Given the description of an element on the screen output the (x, y) to click on. 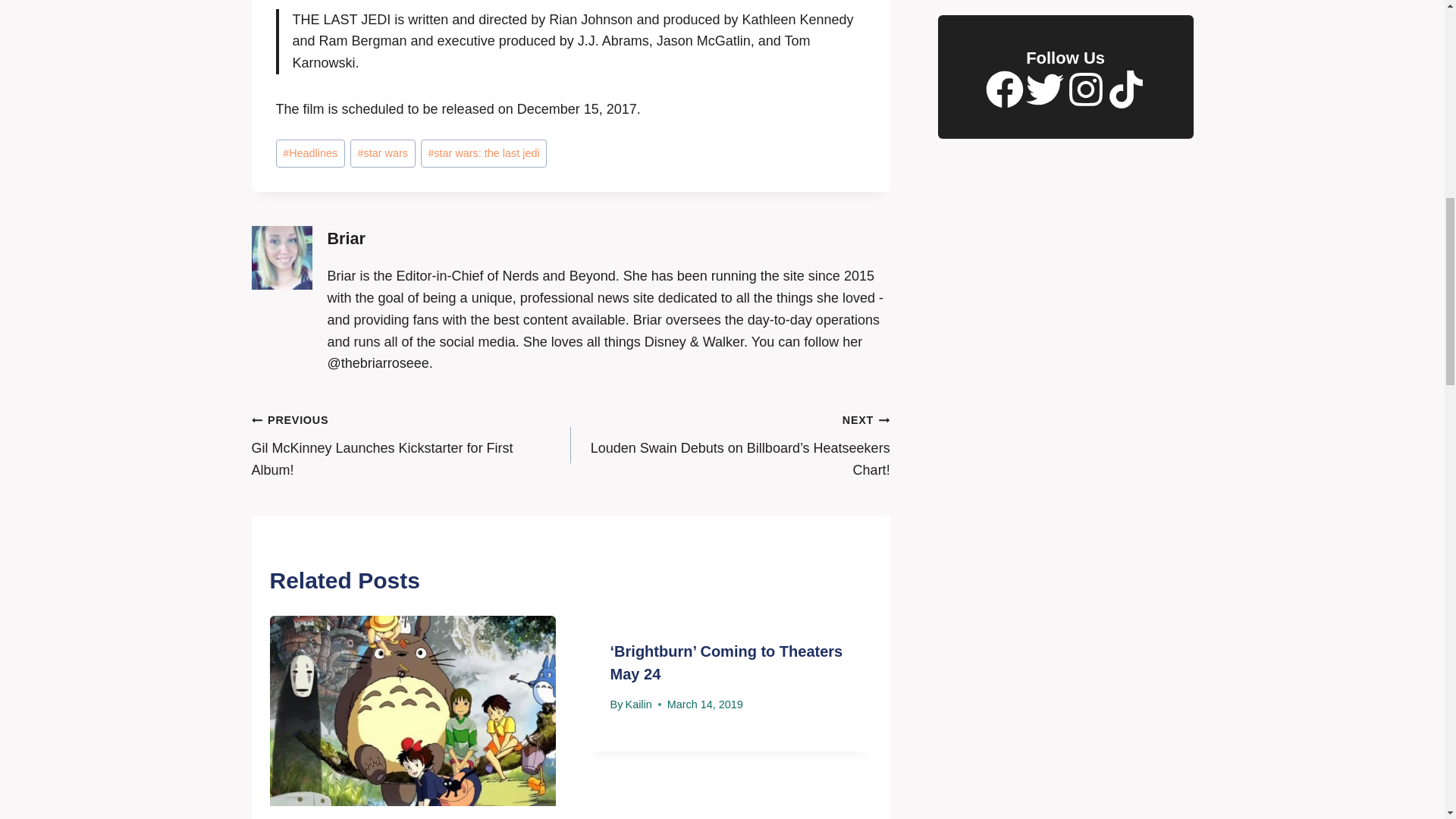
star wars: the last jedi (483, 153)
Posts by Briar (346, 238)
star wars (382, 153)
Headlines (310, 153)
